Given the description of an element on the screen output the (x, y) to click on. 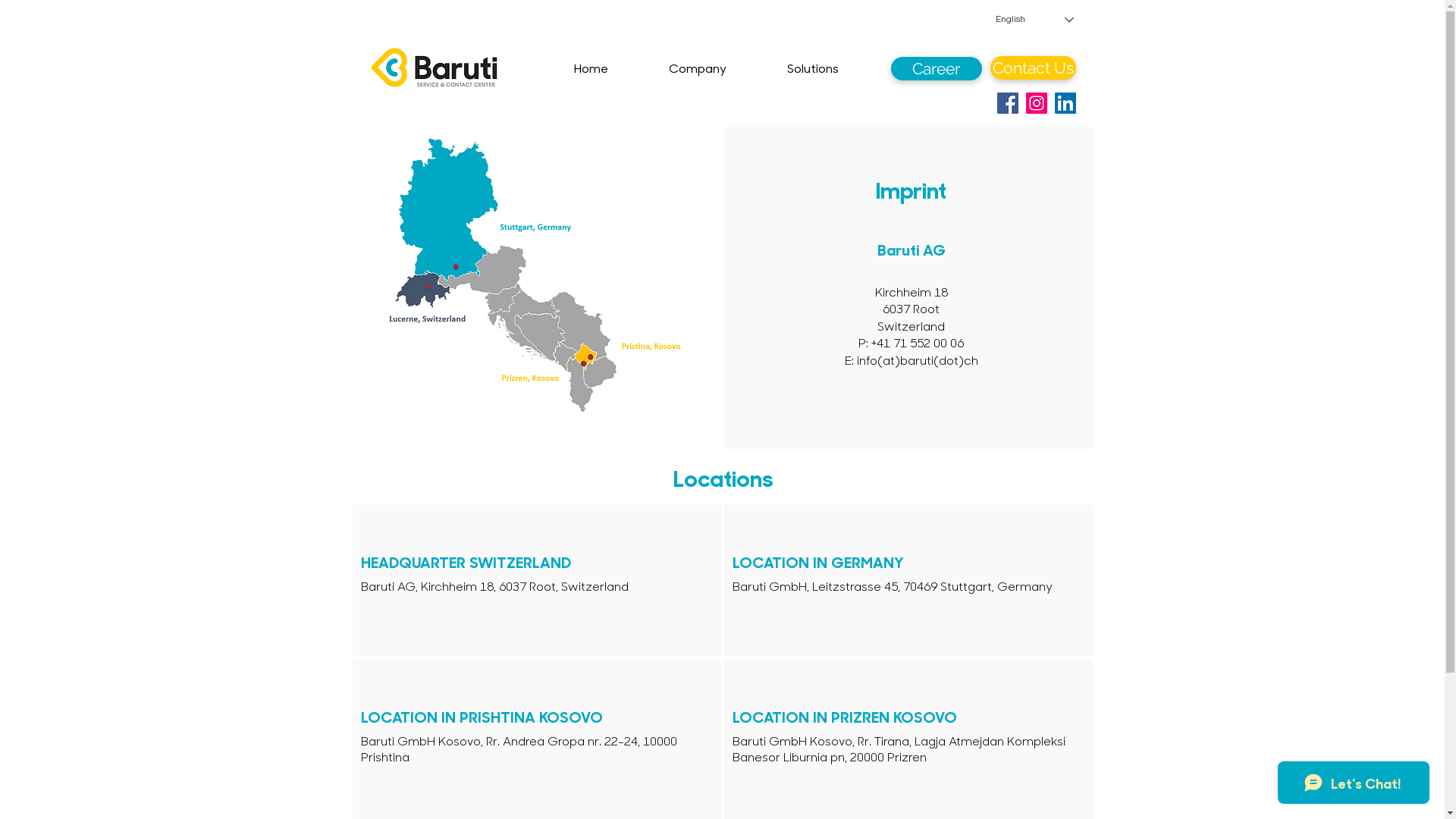
Company Element type: text (720, 67)
Career Element type: text (935, 68)
Home Element type: text (612, 67)
Contact Us Element type: text (1033, 67)
Solutions Element type: text (835, 67)
